Given the description of an element on the screen output the (x, y) to click on. 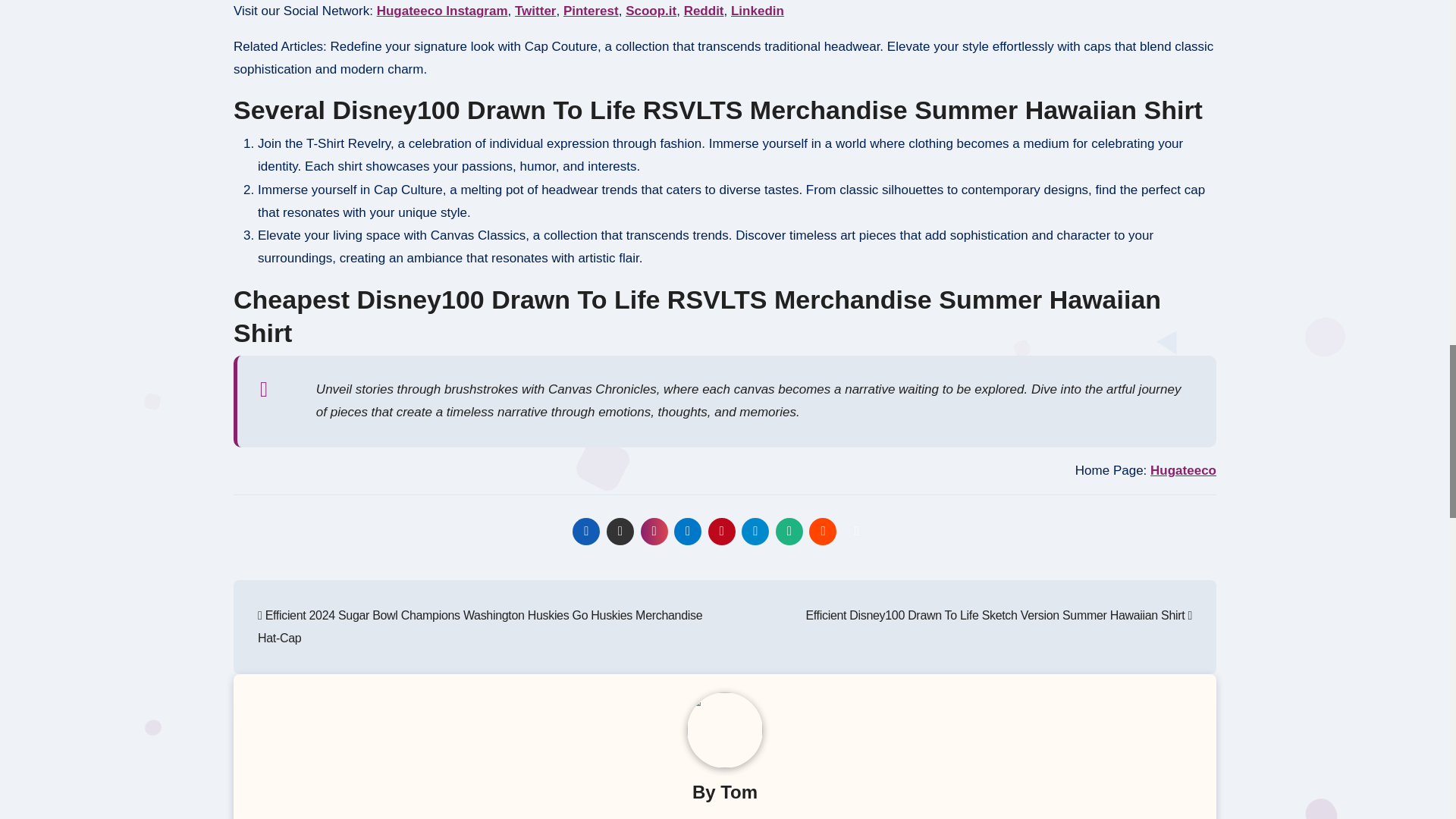
Hugateeco Instagram (442, 11)
Reddit (703, 11)
Scoop.it (651, 11)
Pinterest (590, 11)
Linkedin (757, 11)
Twitter (535, 11)
Hugateeco (1182, 470)
